Given the description of an element on the screen output the (x, y) to click on. 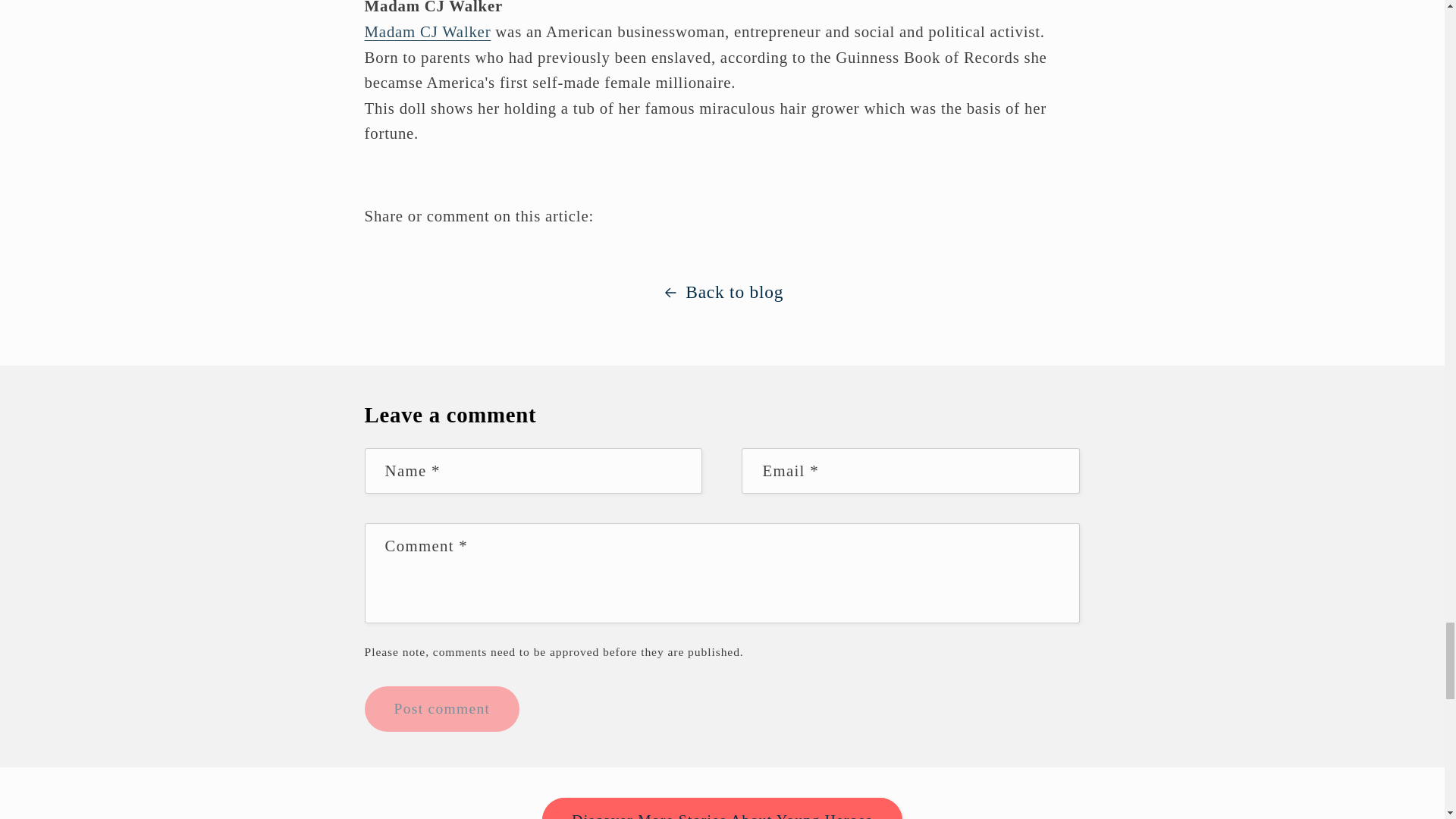
Post comment (442, 709)
Discover More Stories About Young Heroes (721, 808)
Madam CJ Walker (428, 31)
madam cj walker (428, 31)
Post comment (442, 709)
